Given the description of an element on the screen output the (x, y) to click on. 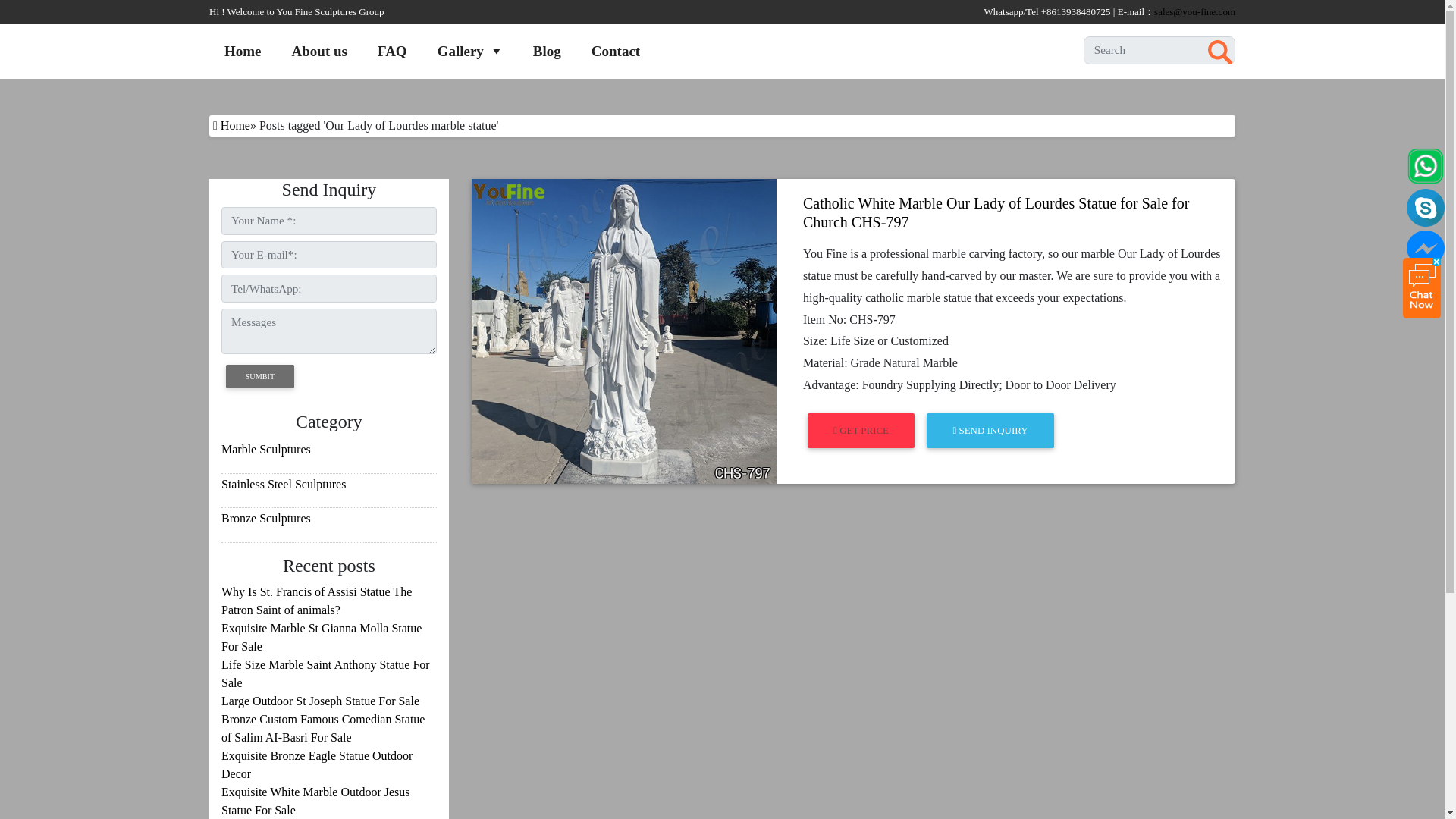
Contact (615, 51)
FAQ (392, 51)
Blog (547, 51)
Home (242, 51)
Home (235, 124)
Gallery (470, 51)
About us (319, 51)
